Given the description of an element on the screen output the (x, y) to click on. 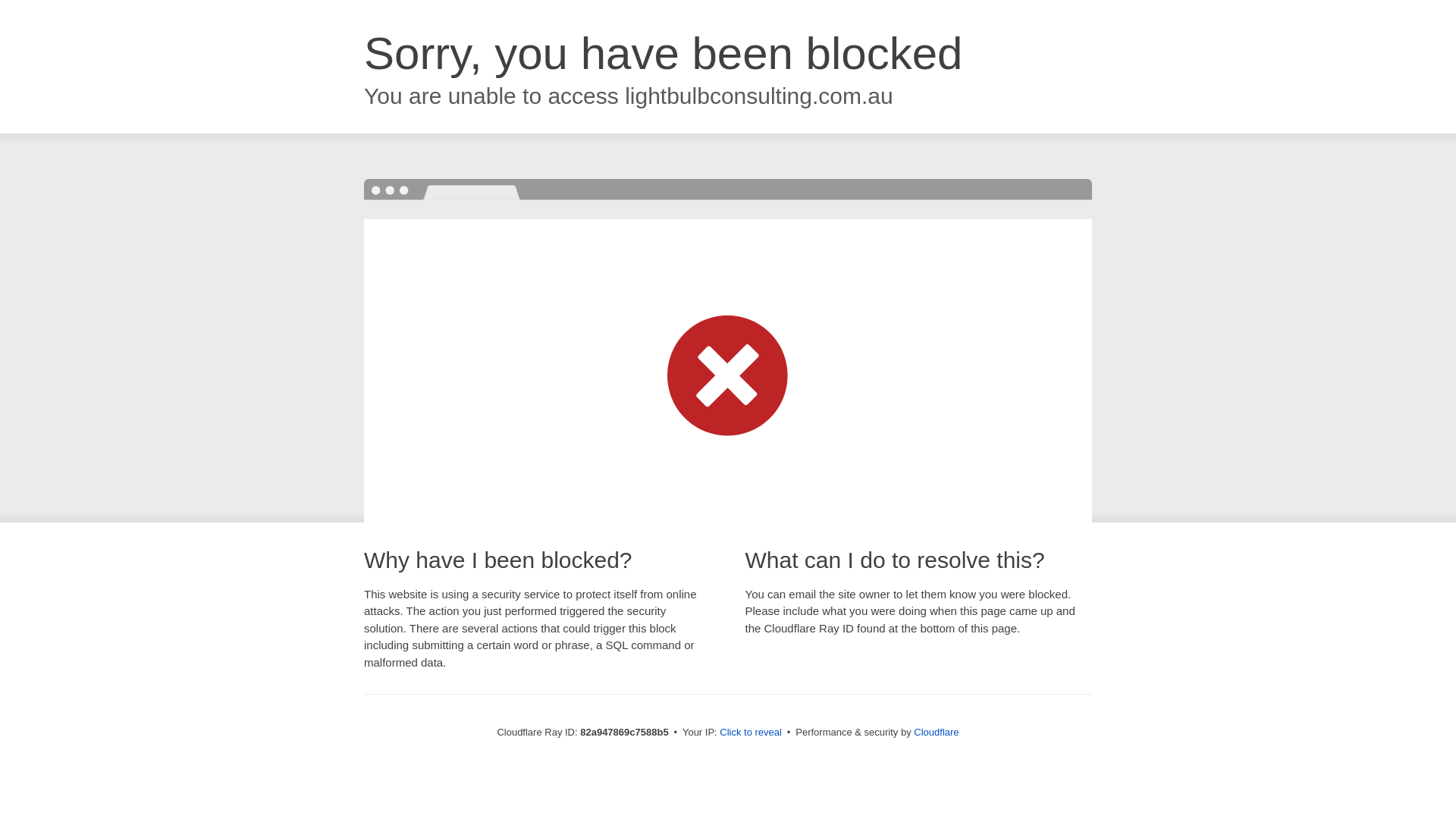
Cloudflare Element type: text (935, 731)
Click to reveal Element type: text (750, 732)
